Given the description of an element on the screen output the (x, y) to click on. 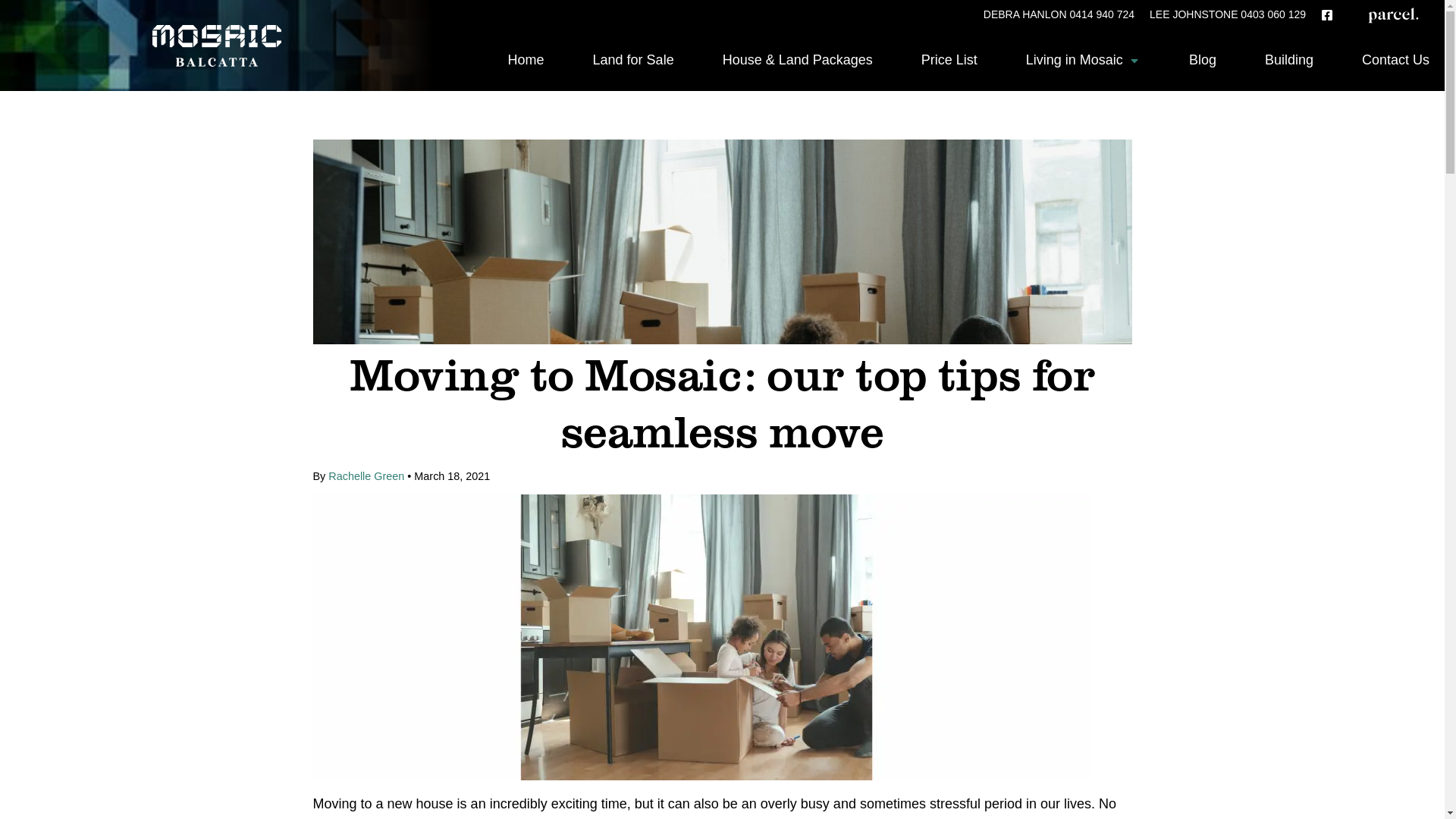
Living in Mosaic Element type: text (1082, 60)
Facebook Element type: text (1327, 15)
Price List Element type: text (949, 60)
Rachelle Green Element type: text (366, 476)
Home Element type: text (525, 60)
Building Element type: text (1288, 60)
House & Land Packages Element type: text (797, 60)
Blog Element type: text (1202, 60)
Land for Sale Element type: text (633, 60)
Contact Us Element type: text (1383, 60)
LEE JOHNSTONE 0403 060 129 Element type: text (1227, 14)
DEBRA HANLON 0414 940 724 Element type: text (1058, 14)
